Given the description of an element on the screen output the (x, y) to click on. 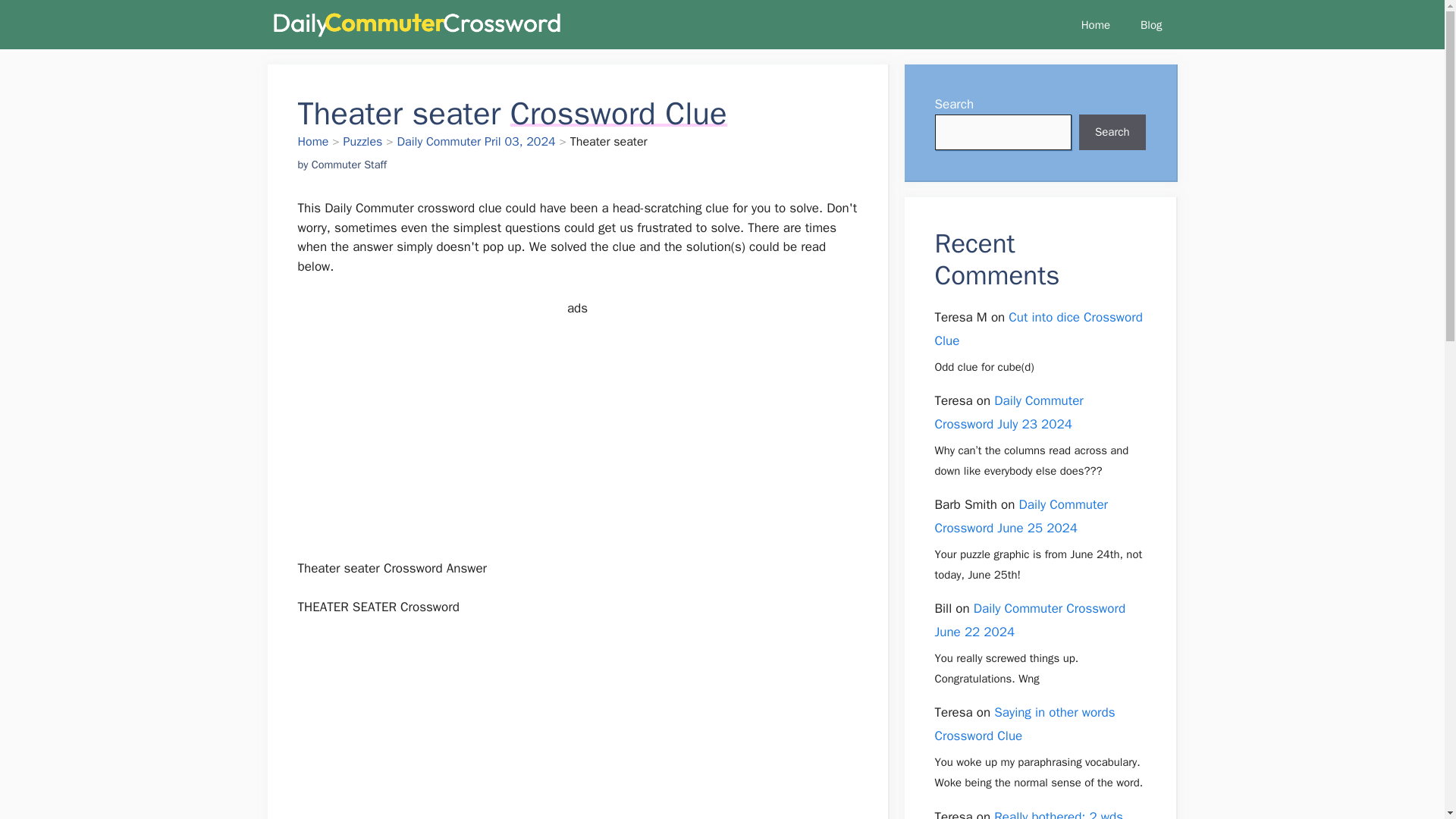
Puzzles (362, 141)
Home (1095, 23)
Search (1111, 131)
Home (313, 141)
Really bothered: 2 wds. Crossword Clue (1030, 814)
Blog (1150, 23)
Commuter Staff (349, 164)
Daily Commuter Crossword July 23 2024 (1008, 412)
Daily Commuter Crossword June 22 2024 (1029, 619)
Saying in other words Crossword Clue (1024, 723)
